Given the description of an element on the screen output the (x, y) to click on. 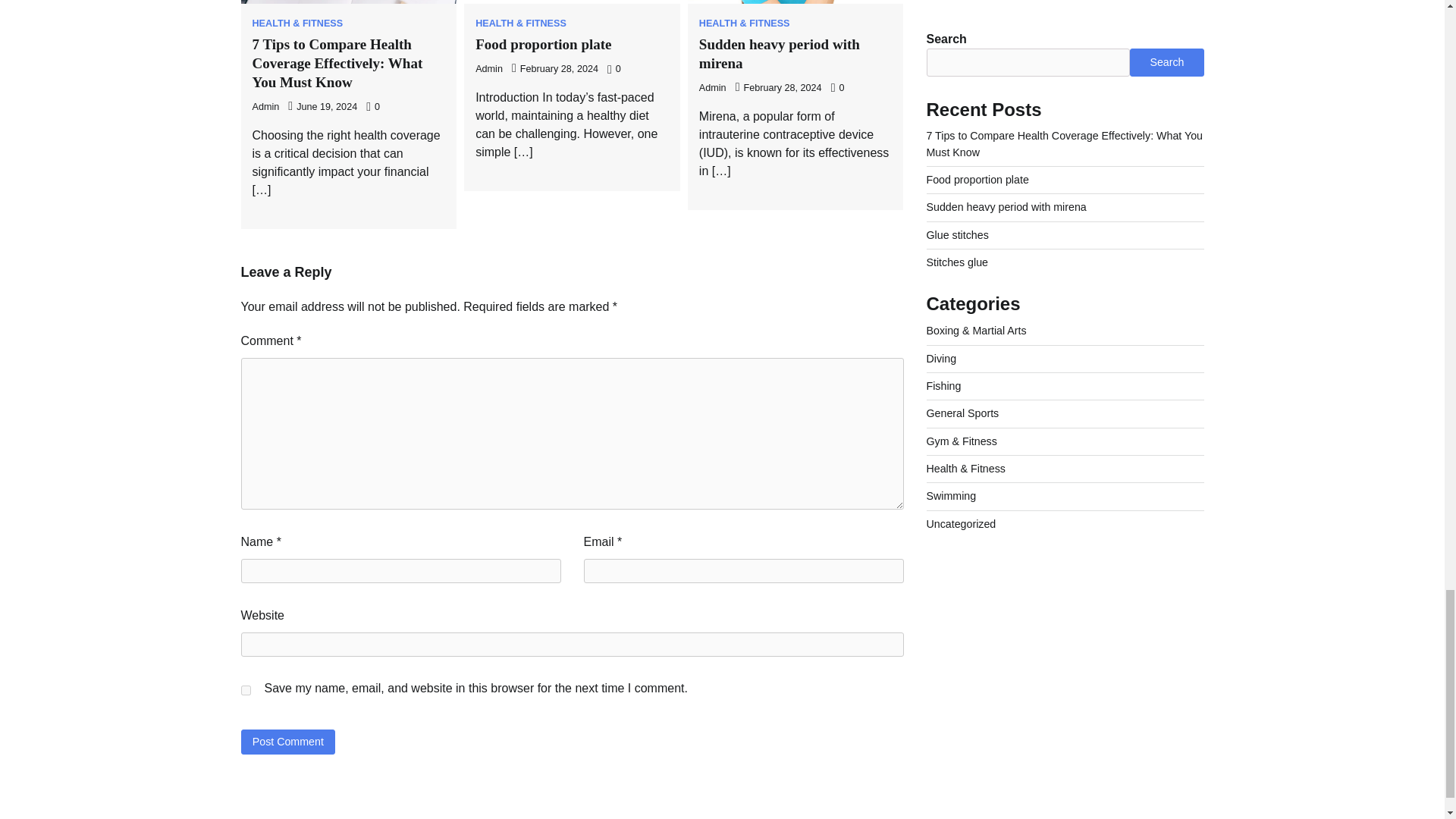
Admin (489, 68)
Post Comment (288, 741)
yes (245, 690)
Food proportion plate (543, 44)
Admin (712, 87)
Admin (265, 106)
Sudden heavy period with mirena (779, 53)
Post Comment (288, 741)
